Given the description of an element on the screen output the (x, y) to click on. 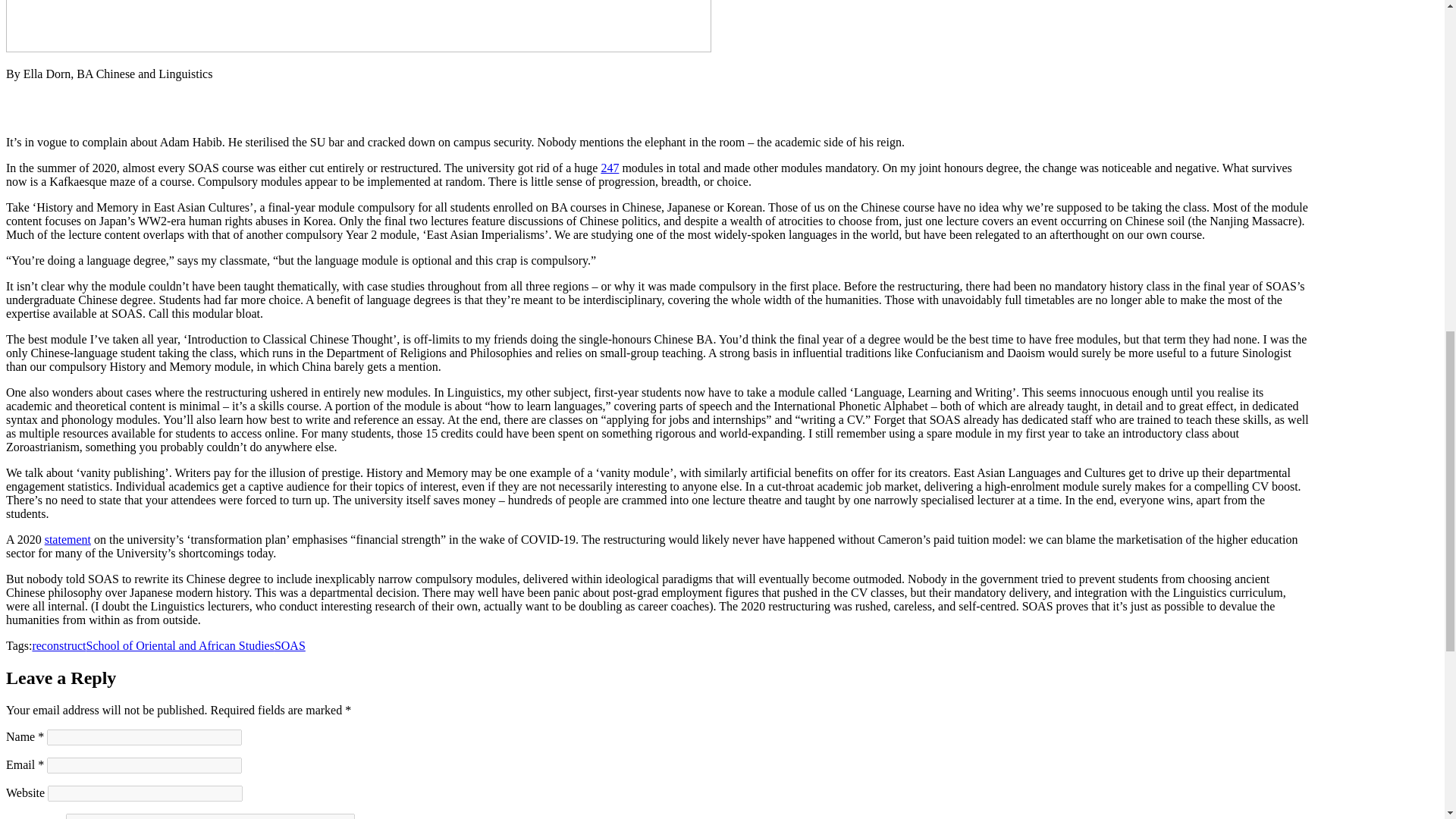
School of Oriental and African Studies (180, 645)
SOAS (290, 645)
statement (67, 539)
School of Oriental and African Studies (180, 645)
reconstruct (58, 645)
247 (608, 167)
SOAS (290, 645)
reconstruct (58, 645)
